Given the description of an element on the screen output the (x, y) to click on. 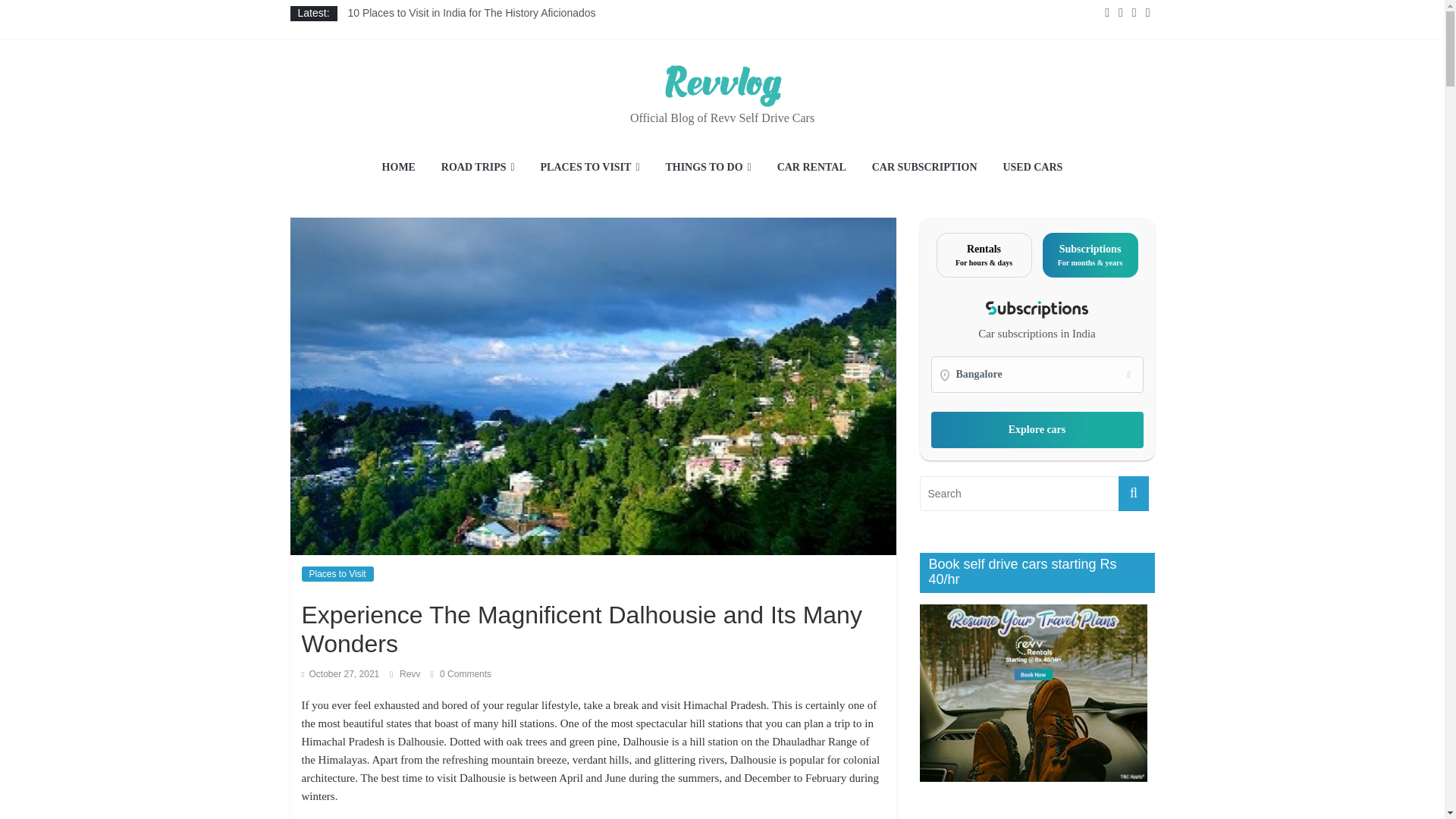
10 Places to Visit in India for The History Aficionados (471, 12)
CAR SUBSCRIPTION (924, 167)
PLACES TO VISIT (589, 167)
THINGS TO DO (707, 167)
8 Temples Praised for their Unique Architecture in India (484, 73)
11 Most Beautiful Mosques in India that You Must Visit (482, 58)
Revv (410, 674)
10 Places to Visit in India for The History Aficionados (471, 12)
11:24 am (340, 674)
ROAD TRIPS (477, 167)
CAR RENTAL (811, 167)
HOME (398, 167)
